Given the description of an element on the screen output the (x, y) to click on. 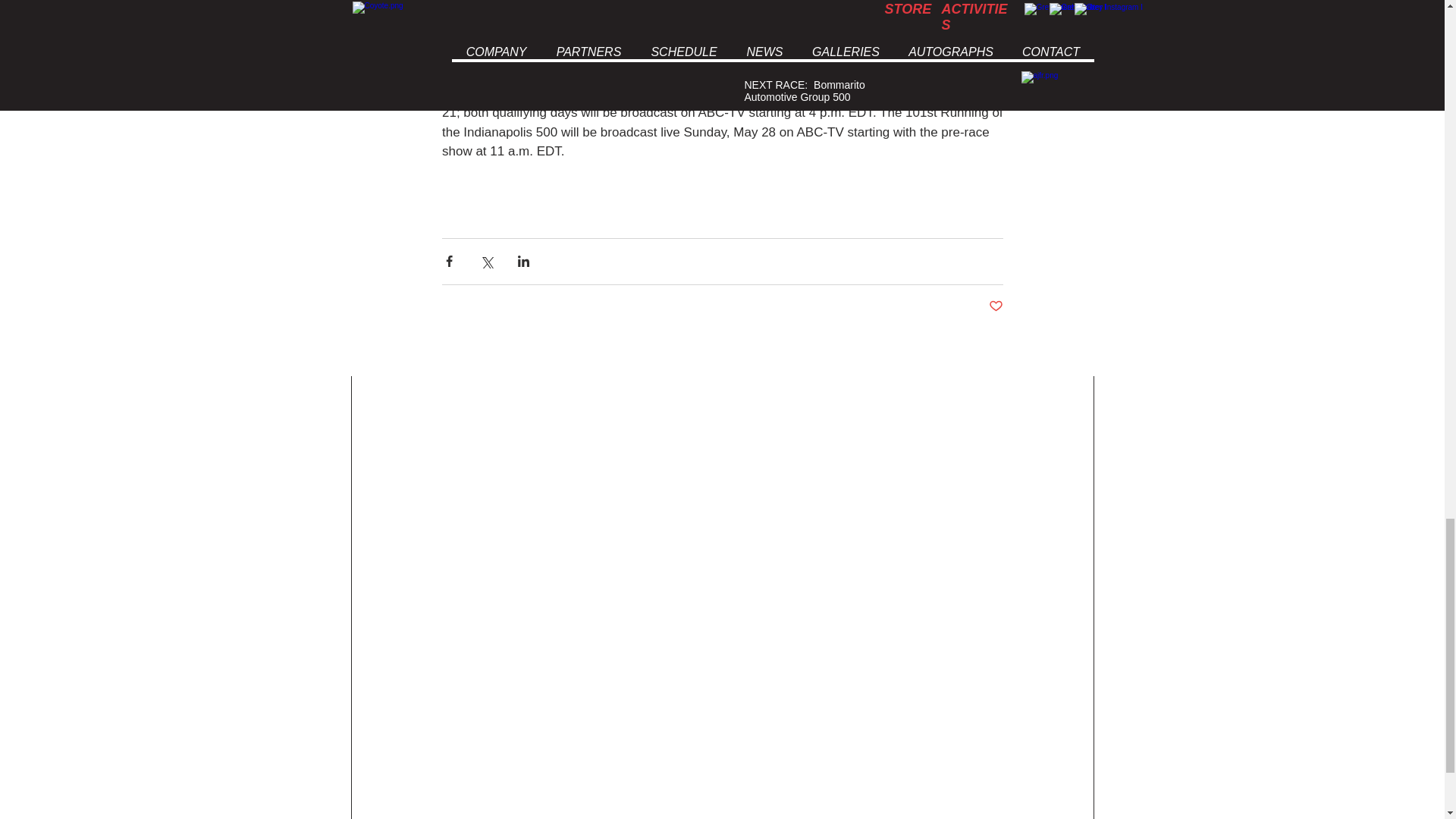
Post not marked as liked (995, 306)
